Given the description of an element on the screen output the (x, y) to click on. 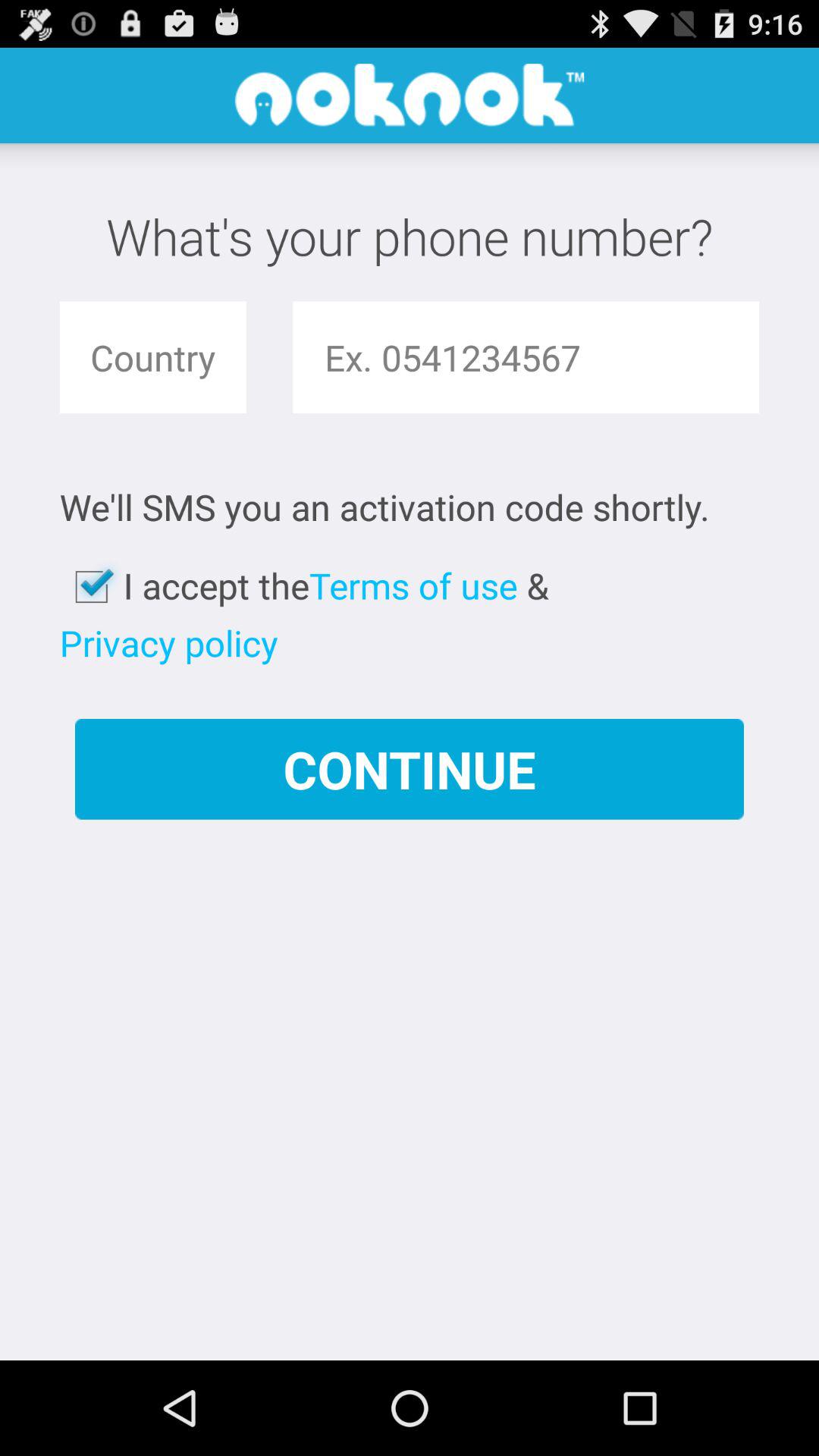
choose item below privacy policy app (409, 768)
